Given the description of an element on the screen output the (x, y) to click on. 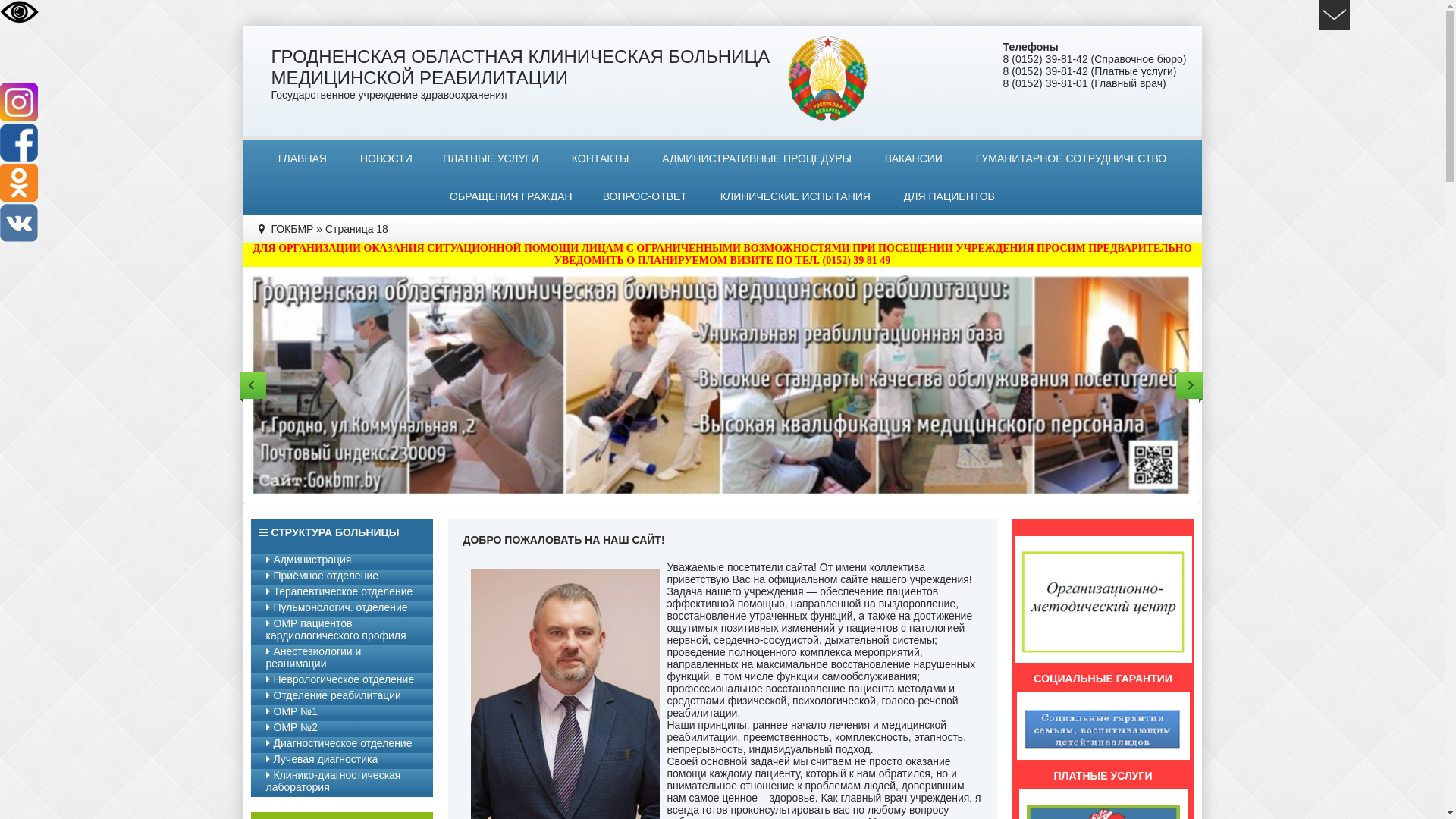
2 Element type: text (727, 525)
Next Element type: text (1188, 385)
Previous Element type: text (252, 385)
1 Element type: text (713, 525)
